Given the description of an element on the screen output the (x, y) to click on. 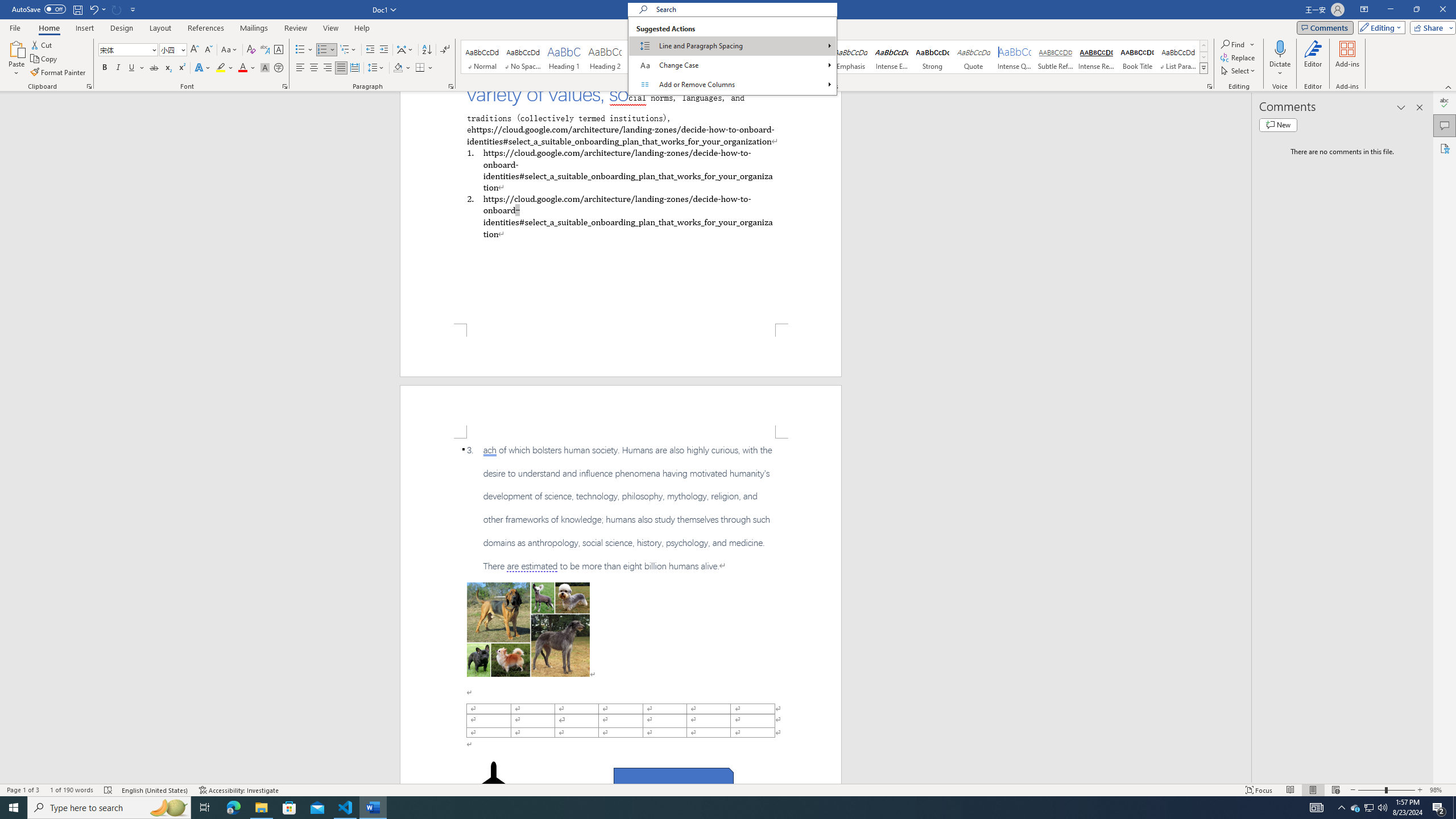
Font (128, 49)
Class: NetUIImage (1204, 68)
Class: MsoCommandBar (728, 789)
Editor (1444, 102)
Zoom (1386, 790)
Enclose Characters... (278, 67)
Heading 2 (605, 56)
Class: NetUIScrollBar (1245, 437)
Justify (340, 67)
Page Number Page 1 of 3 (22, 790)
Row Down (1203, 56)
Subtle Reference (1055, 56)
Language English (United States) (154, 790)
